Given the description of an element on the screen output the (x, y) to click on. 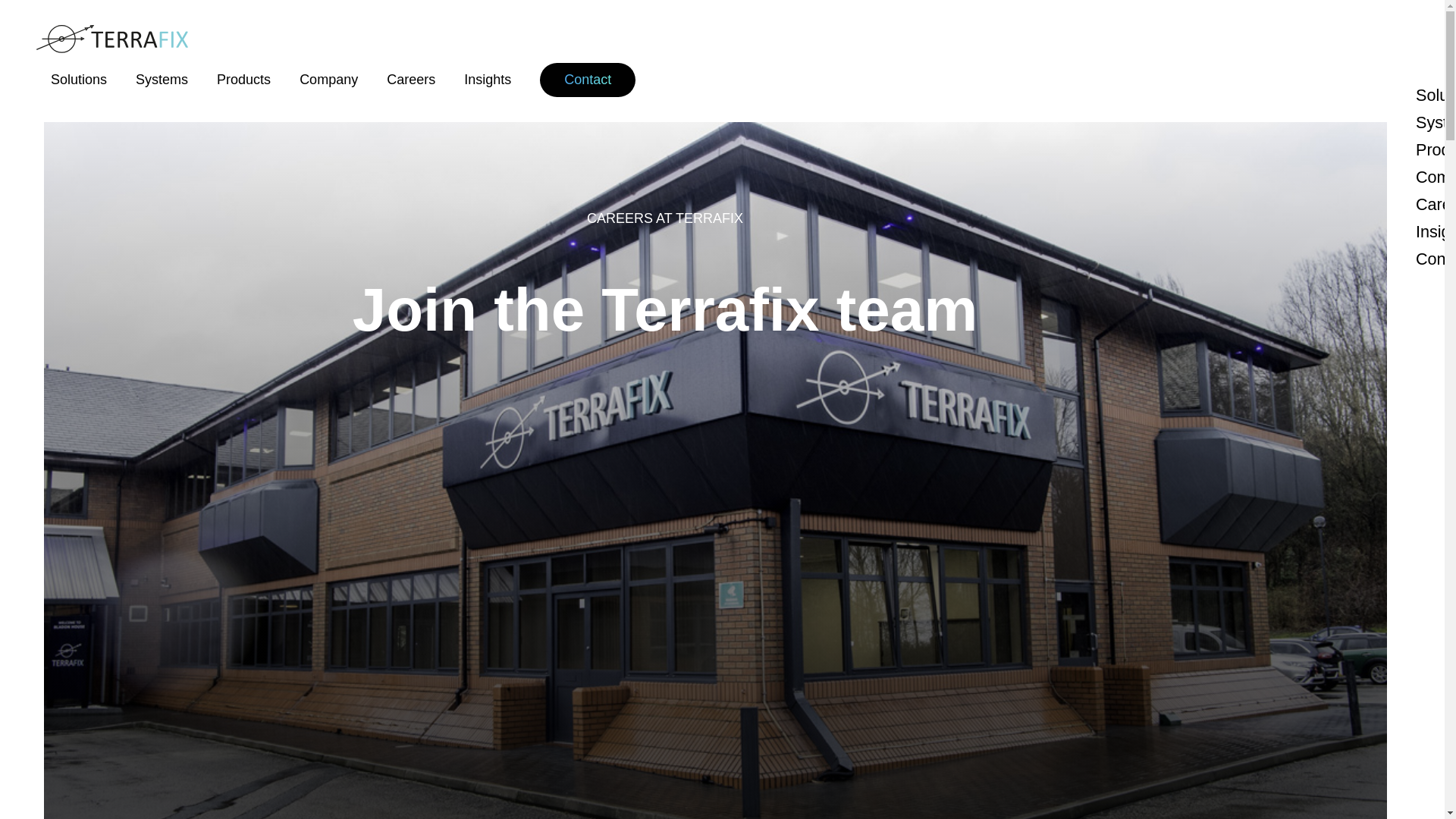
Products (1435, 149)
Insights (487, 79)
Products (243, 79)
Company (328, 79)
Careers (1435, 204)
Company (1435, 176)
Insights (1435, 231)
Contact (1435, 258)
Systems (1435, 122)
Careers (411, 79)
Contact (587, 80)
Solutions (1435, 94)
Solutions (78, 79)
Systems (161, 79)
